Given the description of an element on the screen output the (x, y) to click on. 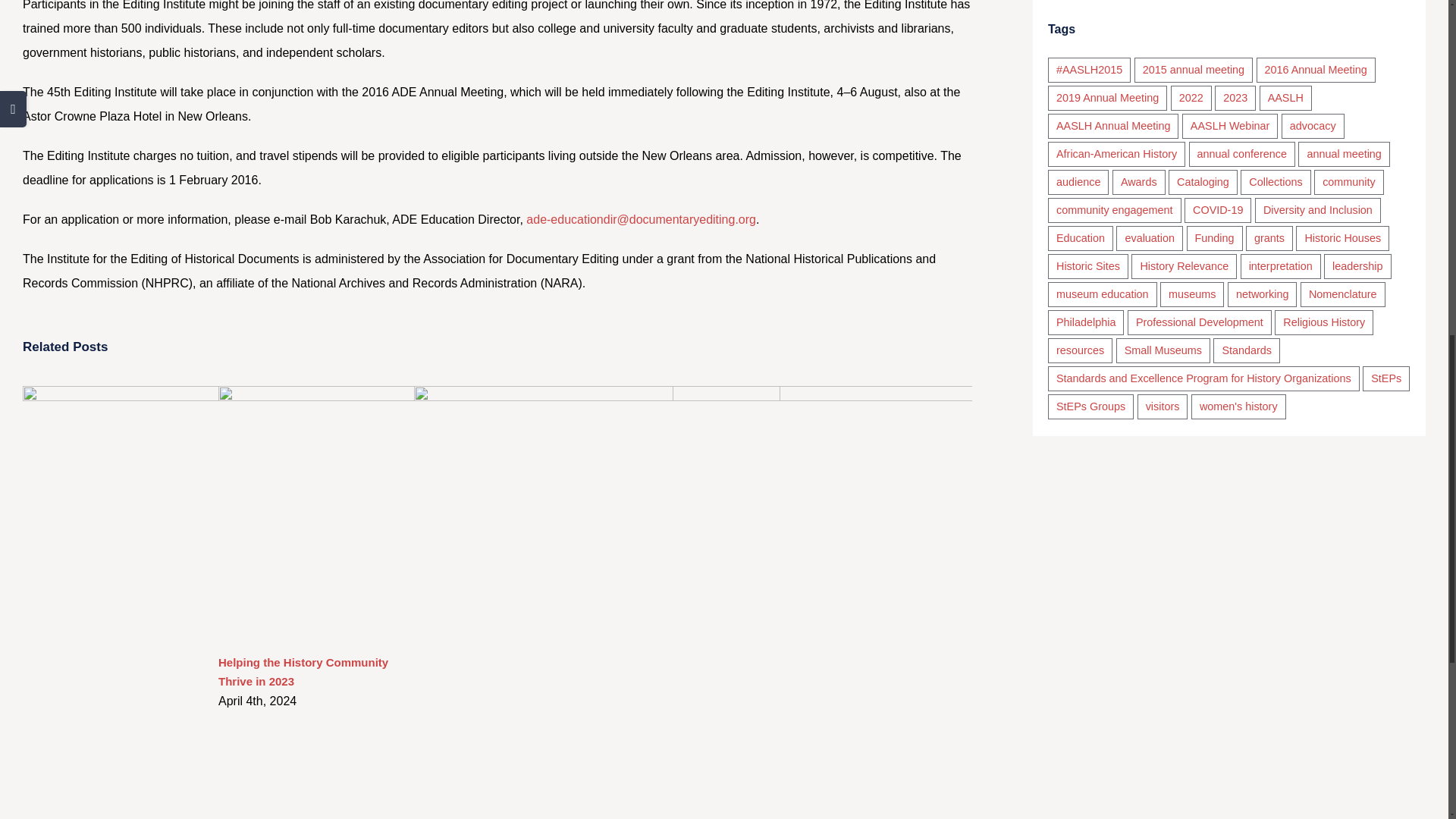
Helping the History Community Thrive in 2023 (303, 671)
